Given the description of an element on the screen output the (x, y) to click on. 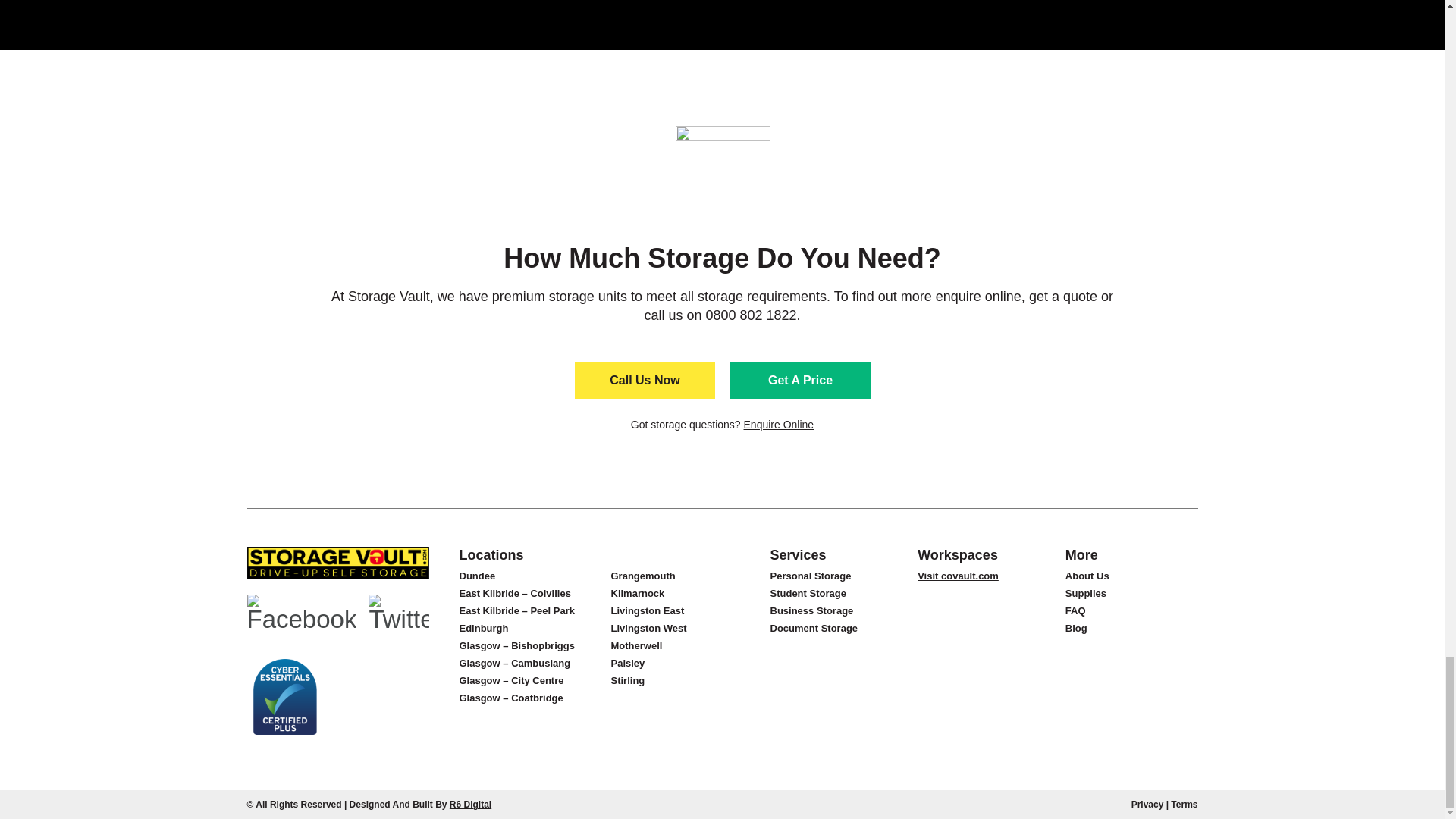
Locations-around-Scotland (721, 174)
